Given the description of an element on the screen output the (x, y) to click on. 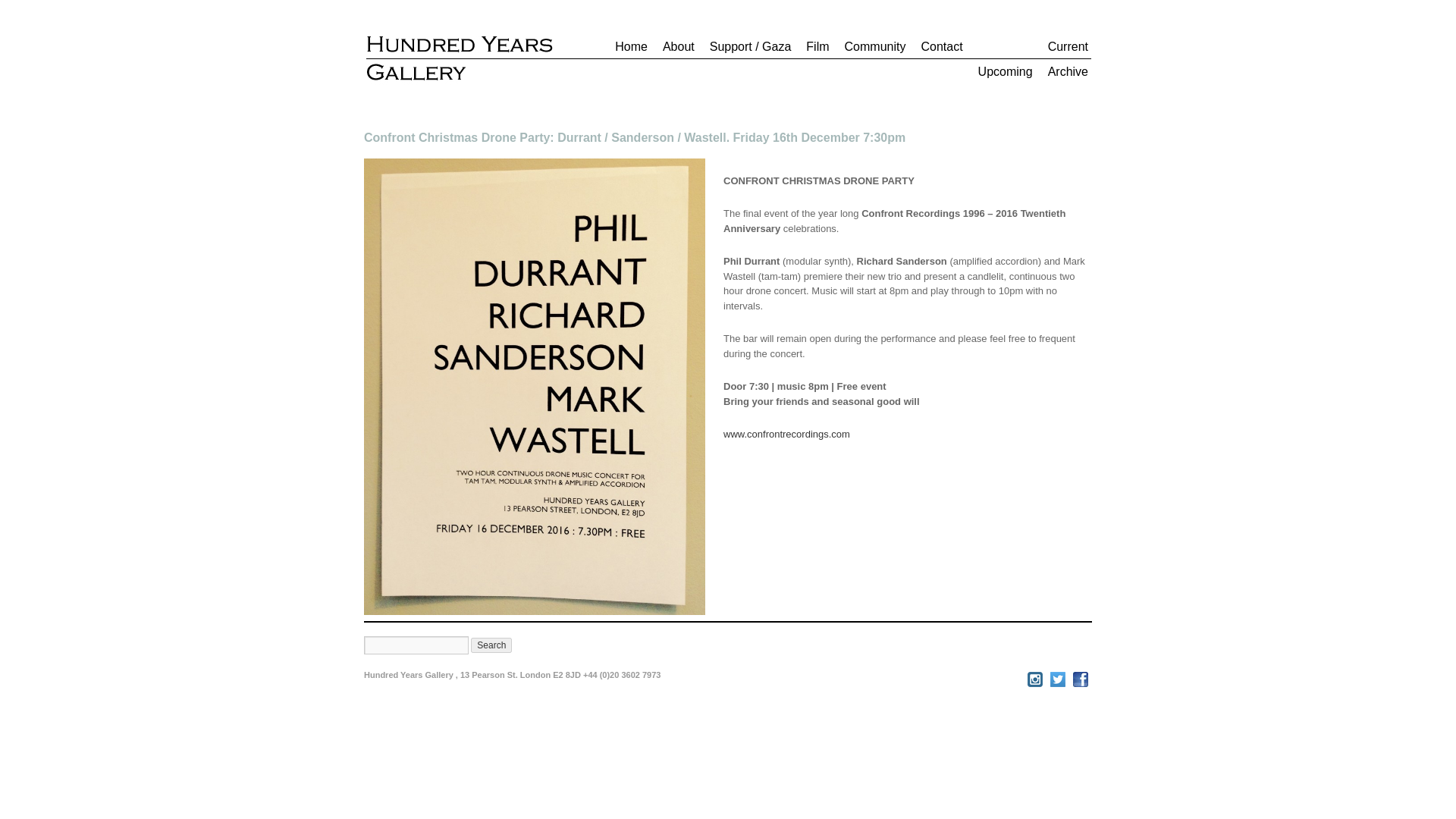
Current (1029, 50)
Archive (1064, 75)
Home (627, 50)
Upcoming (1001, 75)
Film (813, 50)
Search (491, 645)
Search (491, 645)
Contact (937, 50)
Community (871, 50)
www.confrontrecordings.com (786, 433)
